Given the description of an element on the screen output the (x, y) to click on. 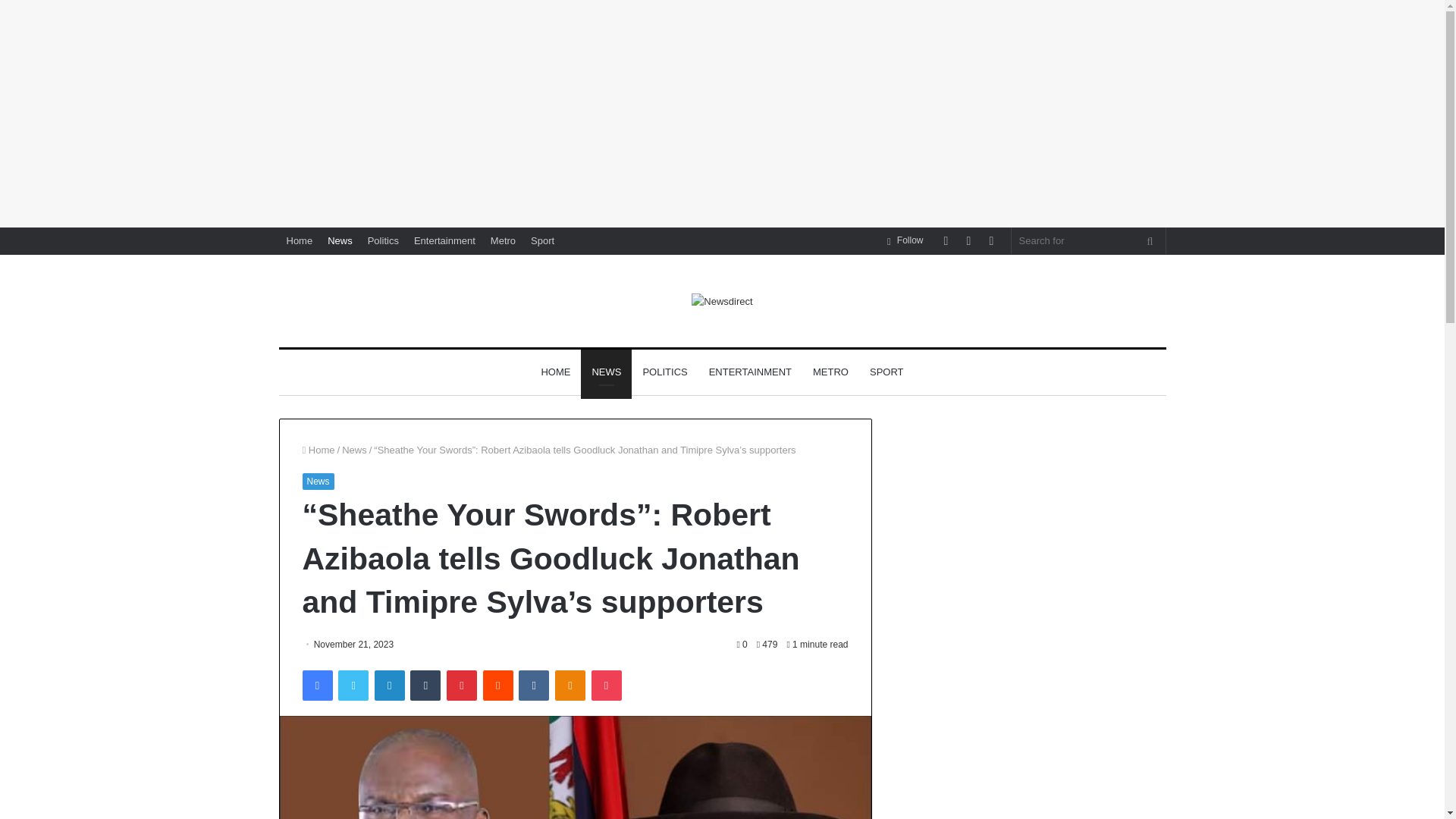
Home (317, 449)
Reddit (498, 685)
Entertainment (444, 240)
Search for (1088, 240)
Pocket (606, 685)
Newsdirect (721, 300)
NEWS (605, 371)
Odnoklassniki (569, 685)
Reddit (498, 685)
LinkedIn (389, 685)
News (339, 240)
HOME (554, 371)
Pinterest (461, 685)
Search for (1150, 240)
Home (299, 240)
